Given the description of an element on the screen output the (x, y) to click on. 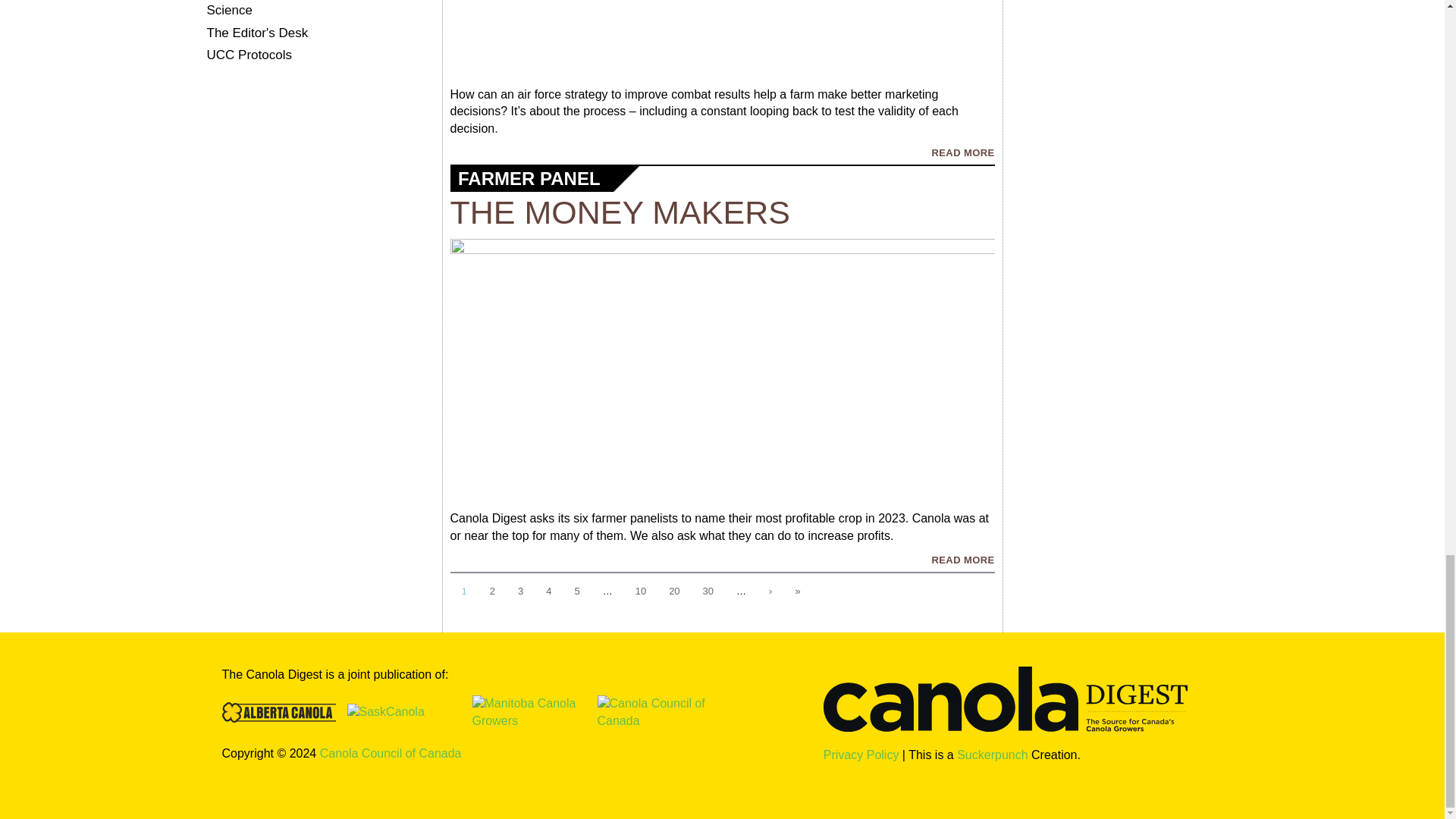
Page 2 (492, 591)
Page 3 (520, 591)
Page 4 (548, 591)
Page 5 (576, 591)
